Given the description of an element on the screen output the (x, y) to click on. 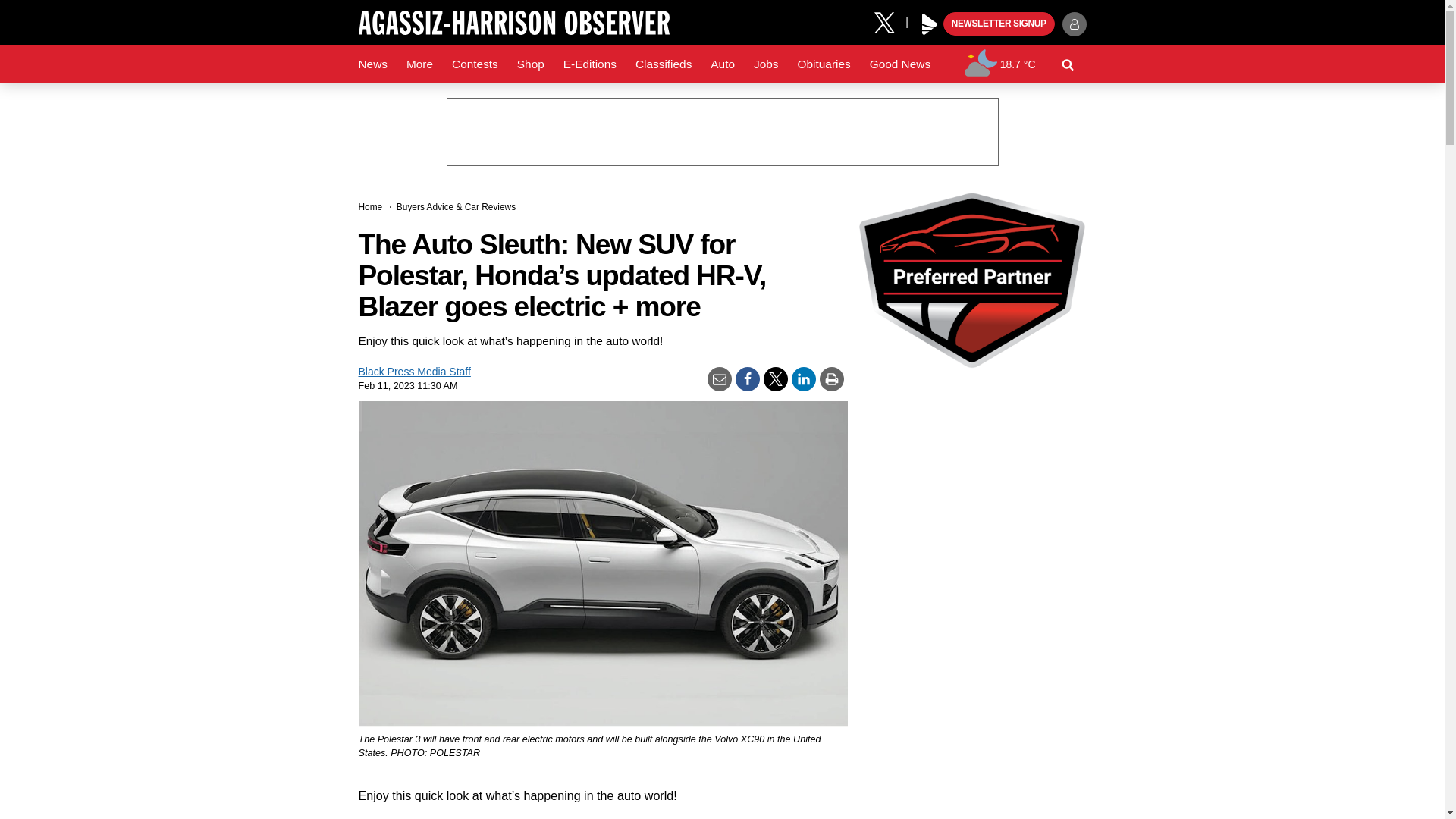
X (889, 21)
3rd party ad content (721, 131)
NEWSLETTER SIGNUP (998, 24)
Black Press Media (929, 24)
News (372, 64)
Play (929, 24)
